Given the description of an element on the screen output the (x, y) to click on. 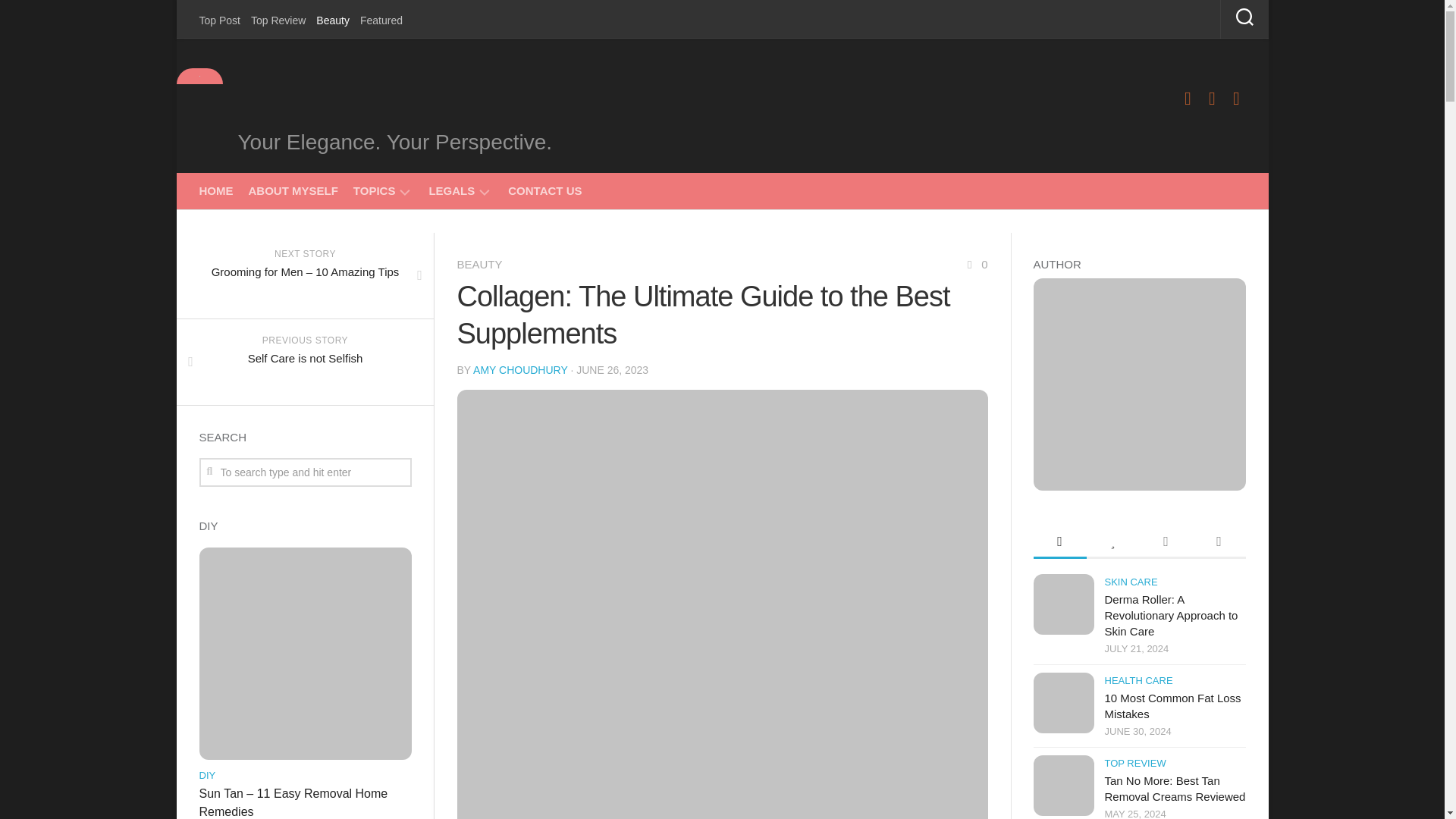
To search type and hit enter (304, 471)
BEAUTY (479, 264)
TOPICS (374, 191)
Top Post (219, 20)
LEGALS (451, 191)
Posts by Amy Choudhury (520, 369)
HOME (215, 191)
To search type and hit enter (304, 471)
Top Review (277, 20)
Pinterest (1235, 98)
CONTACT US (544, 191)
Twitter (1211, 98)
0 (975, 264)
Beauty (332, 20)
